Given the description of an element on the screen output the (x, y) to click on. 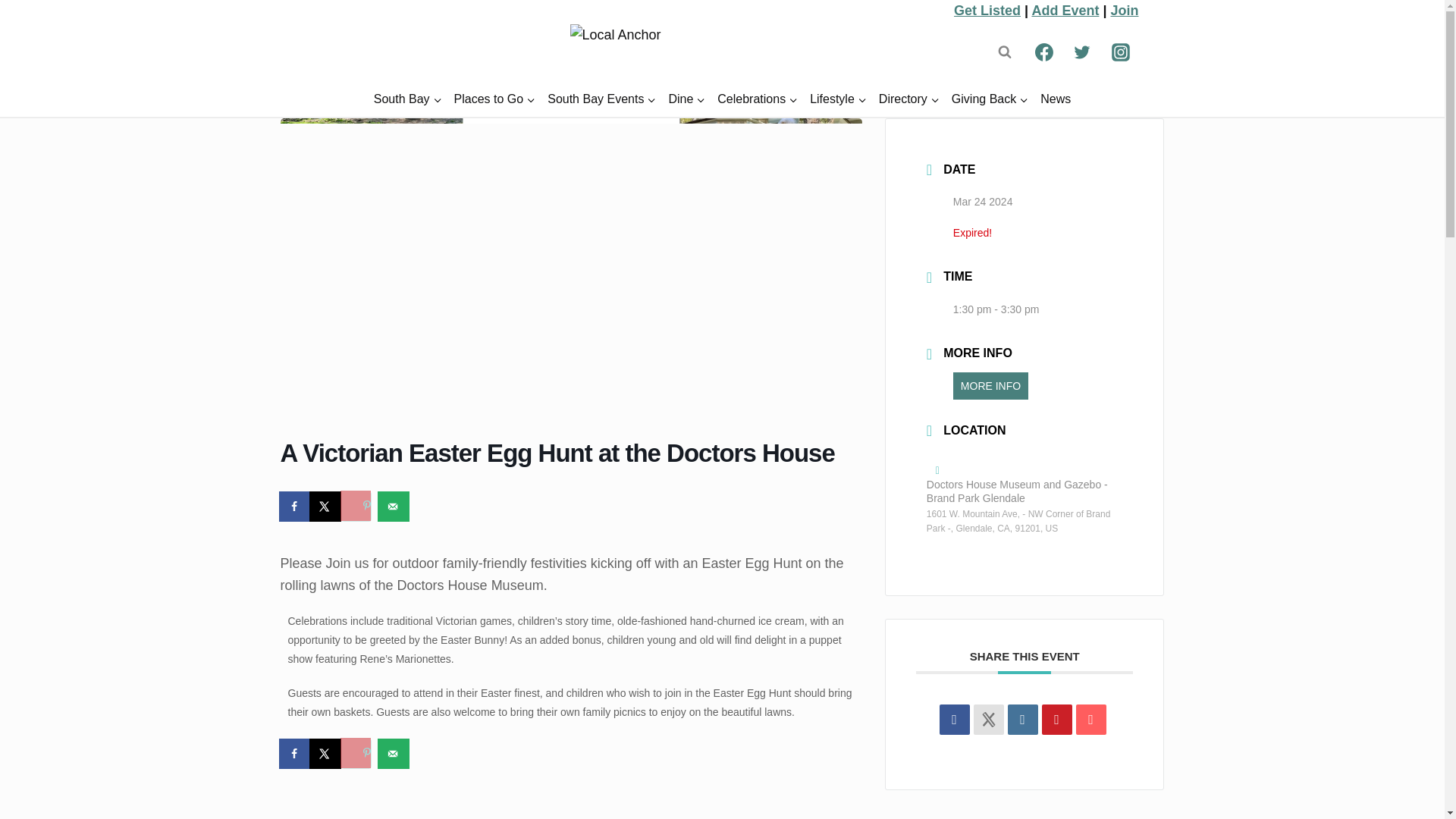
Dine (686, 99)
Email (1090, 719)
Join (1123, 10)
Share on Facebook (296, 506)
Share on Facebook (296, 753)
Share on X (325, 753)
Linkedin (1022, 719)
Share on X (325, 506)
Share on Pinterest (1056, 719)
Share on Facebook (954, 719)
